Given the description of an element on the screen output the (x, y) to click on. 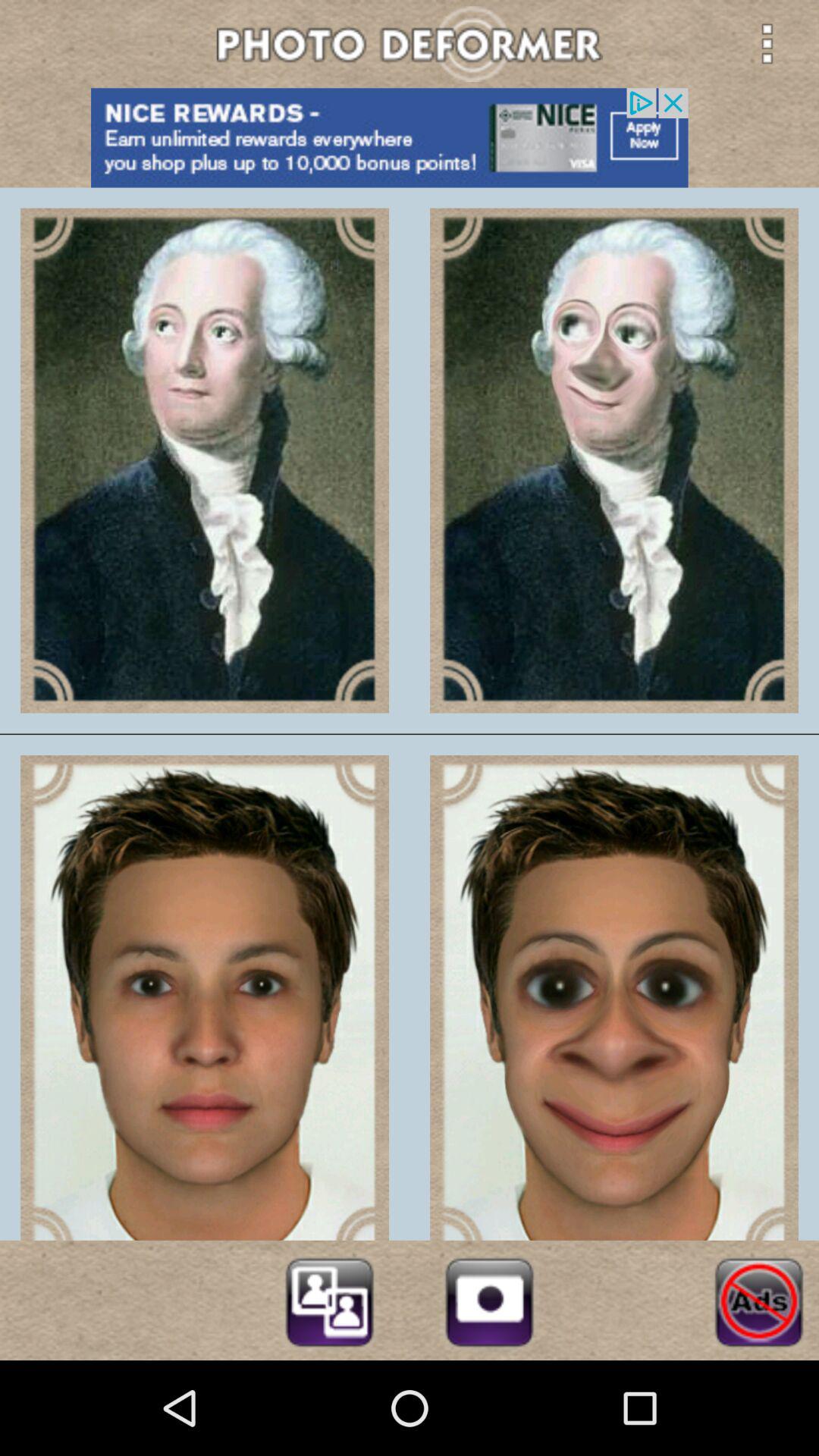
open visa advertisement website (409, 137)
